Given the description of an element on the screen output the (x, y) to click on. 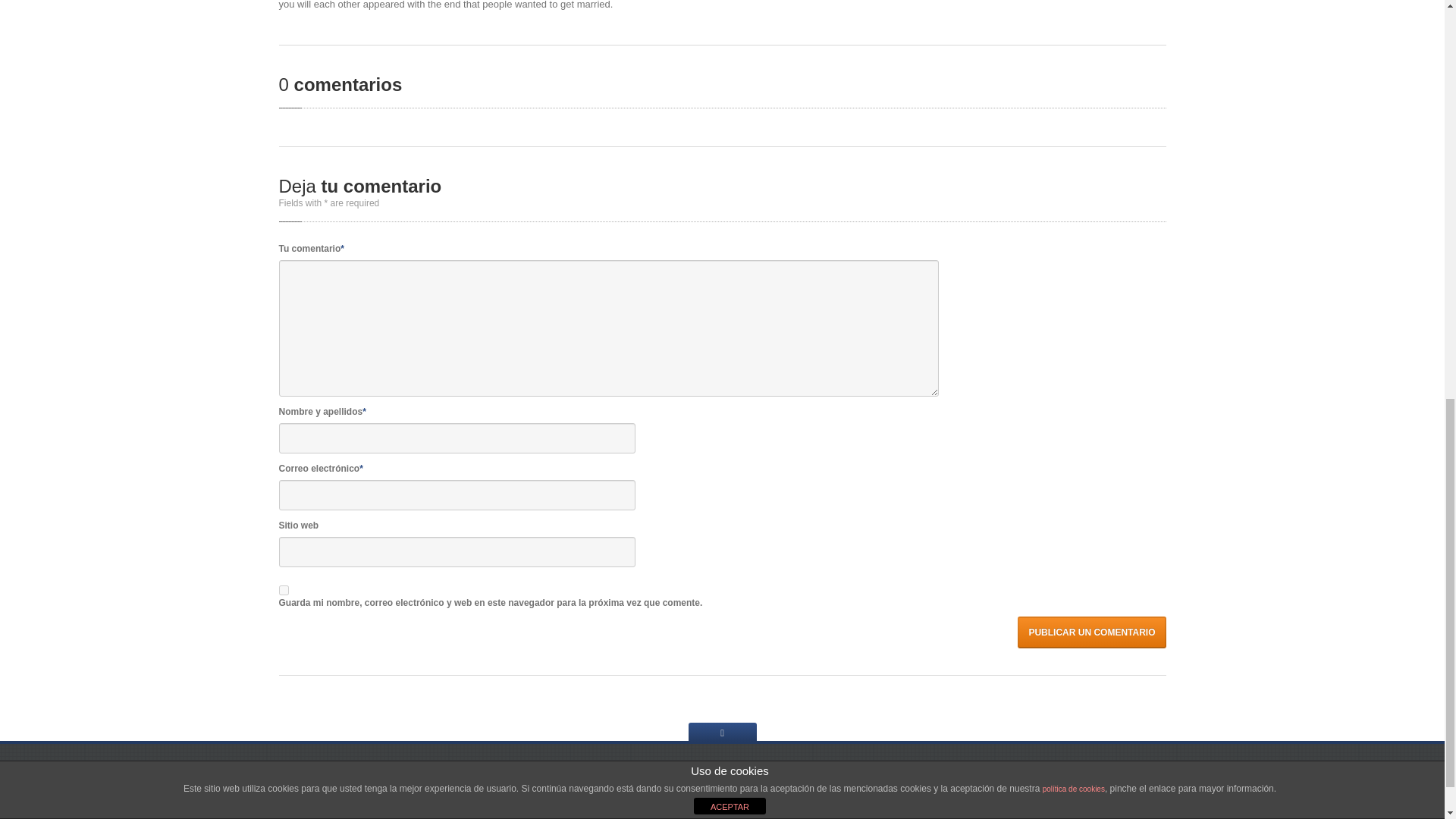
yes (283, 590)
Publicar un comentario (1091, 632)
Publicar un comentario (1091, 632)
